Given the description of an element on the screen output the (x, y) to click on. 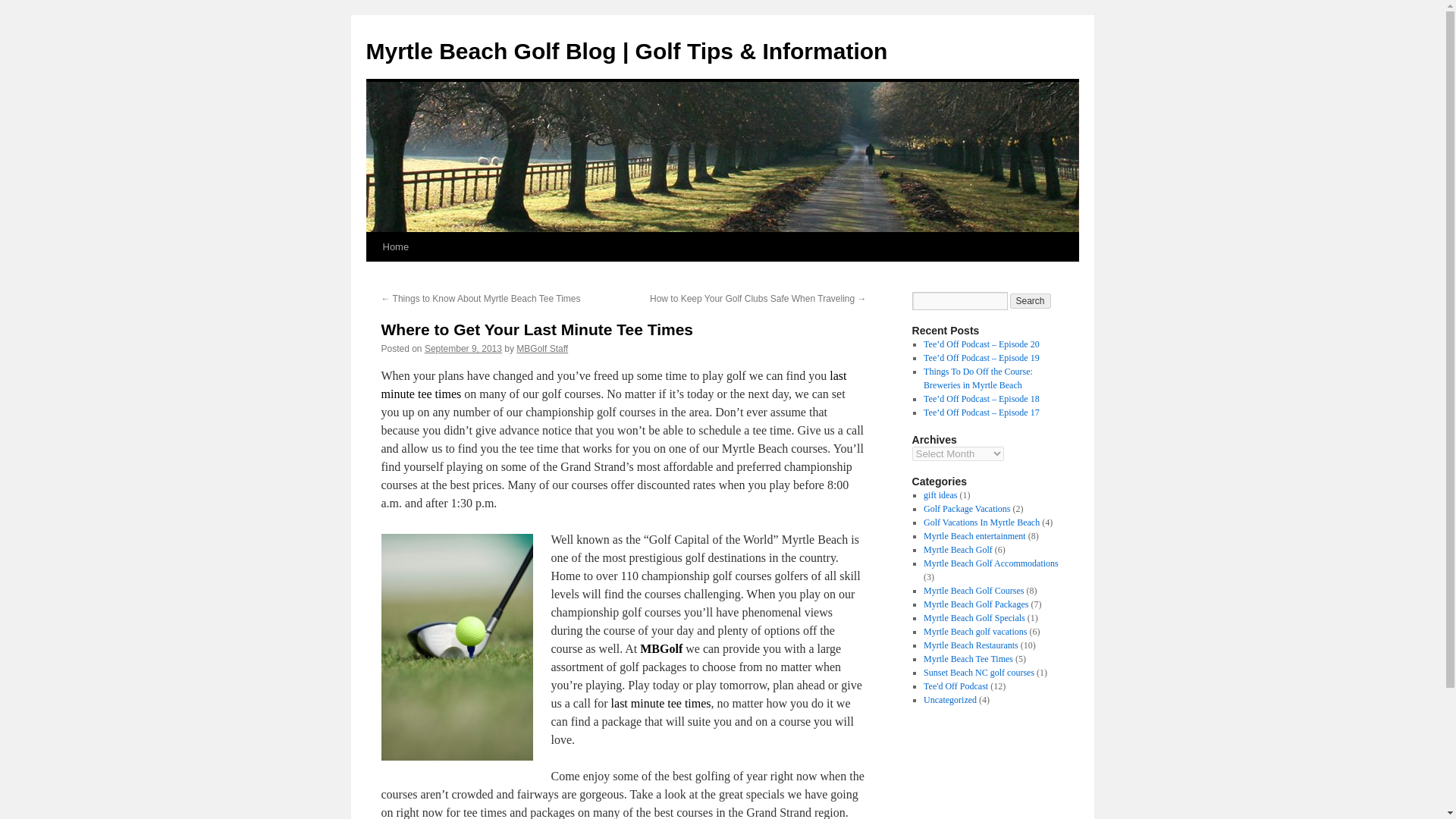
Search (1030, 300)
Myrtle Beach Tee Times (968, 658)
Myrtle Beach Golf Courses (973, 590)
Myrtle Beach golf vacations (974, 631)
gift ideas (939, 494)
View all posts by MBGolf Staff (541, 348)
MBGolf (661, 648)
Myrtle Beach Golf Specials (974, 617)
Home (395, 246)
MBGolf Staff (541, 348)
